Given the description of an element on the screen output the (x, y) to click on. 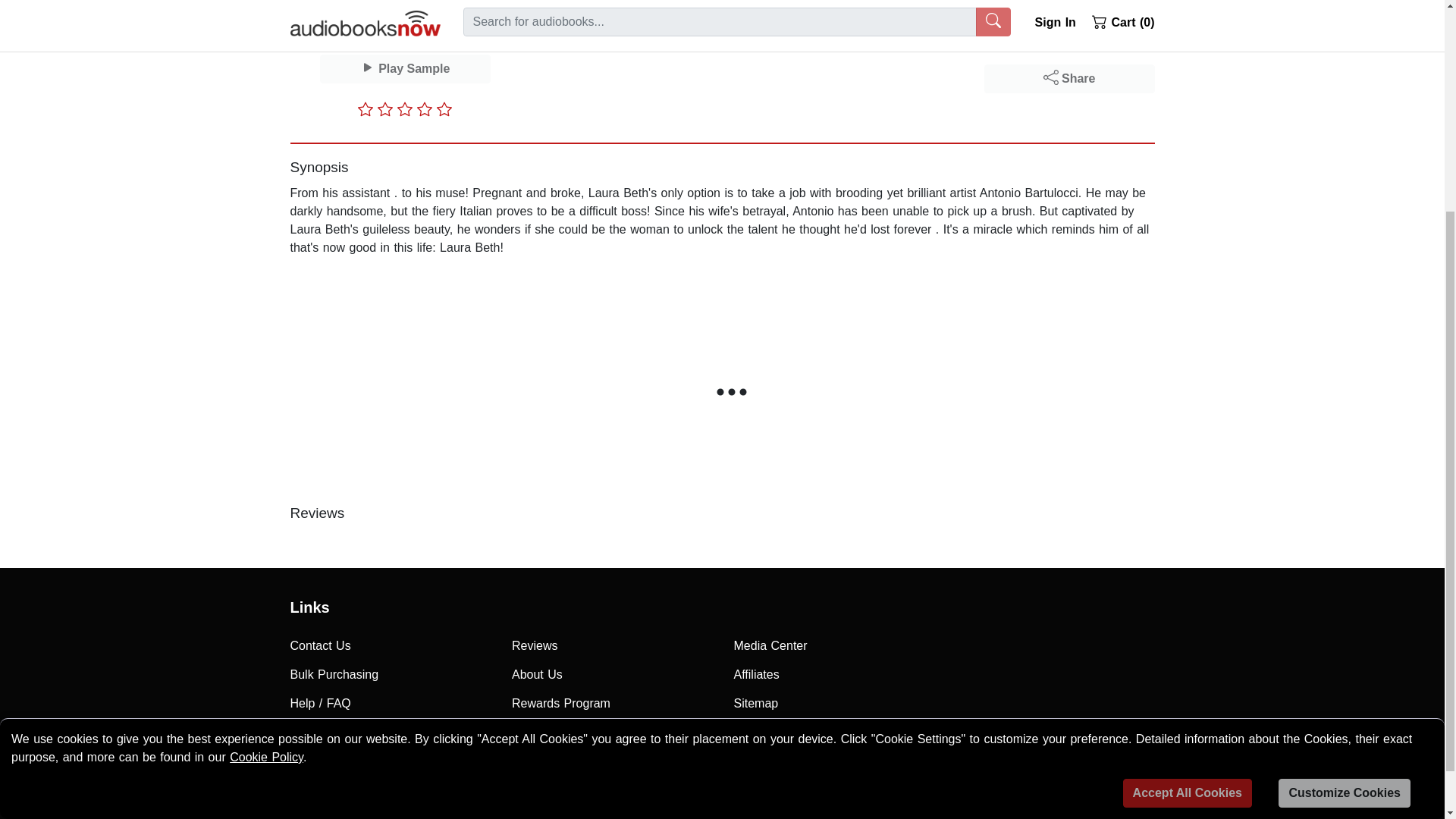
Contact Us (389, 645)
Share (1069, 78)
Play Sample (405, 68)
Cookie Policy (266, 462)
Reviews (611, 645)
Join Mailing List (389, 732)
About Us (611, 674)
Rewards Program (611, 703)
Bulk Purchasing (389, 674)
Fiction - Romance - Contemporary (698, 17)
Add to Wish List (1069, 2)
Customize Cookies (1344, 498)
Accept All Cookies (1187, 498)
Add Favorite Author (1069, 34)
